Given the description of an element on the screen output the (x, y) to click on. 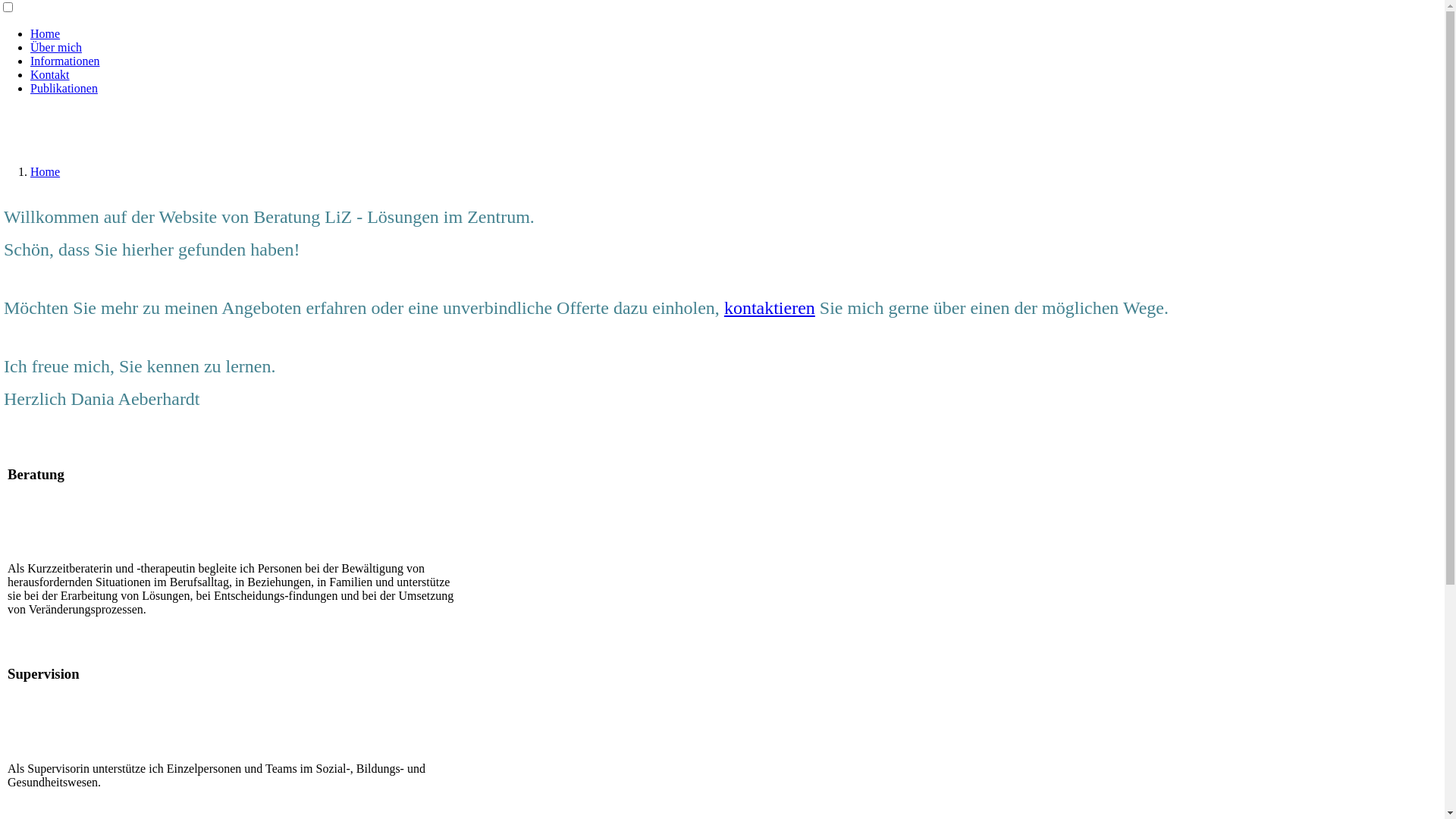
Publikationen Element type: text (63, 87)
Home Element type: text (44, 33)
Kontakt Element type: text (49, 74)
Informationen Element type: text (65, 60)
Home Element type: text (44, 171)
kontaktieren Element type: text (769, 307)
